Given the description of an element on the screen output the (x, y) to click on. 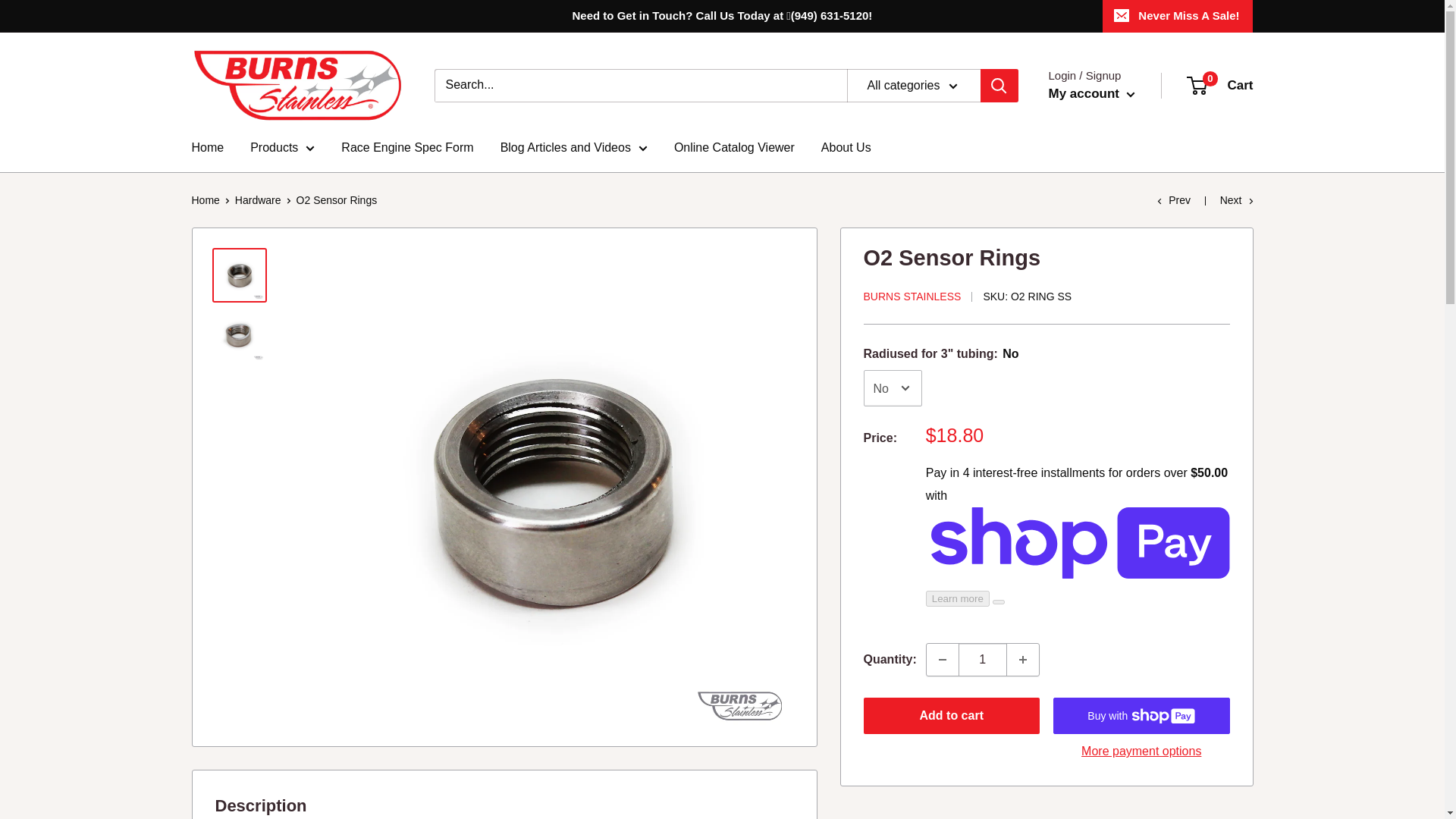
Never Miss A Sale! (1177, 15)
Increase quantity by 1 (1023, 659)
1 (982, 659)
Decrease quantity by 1 (942, 659)
